Given the description of an element on the screen output the (x, y) to click on. 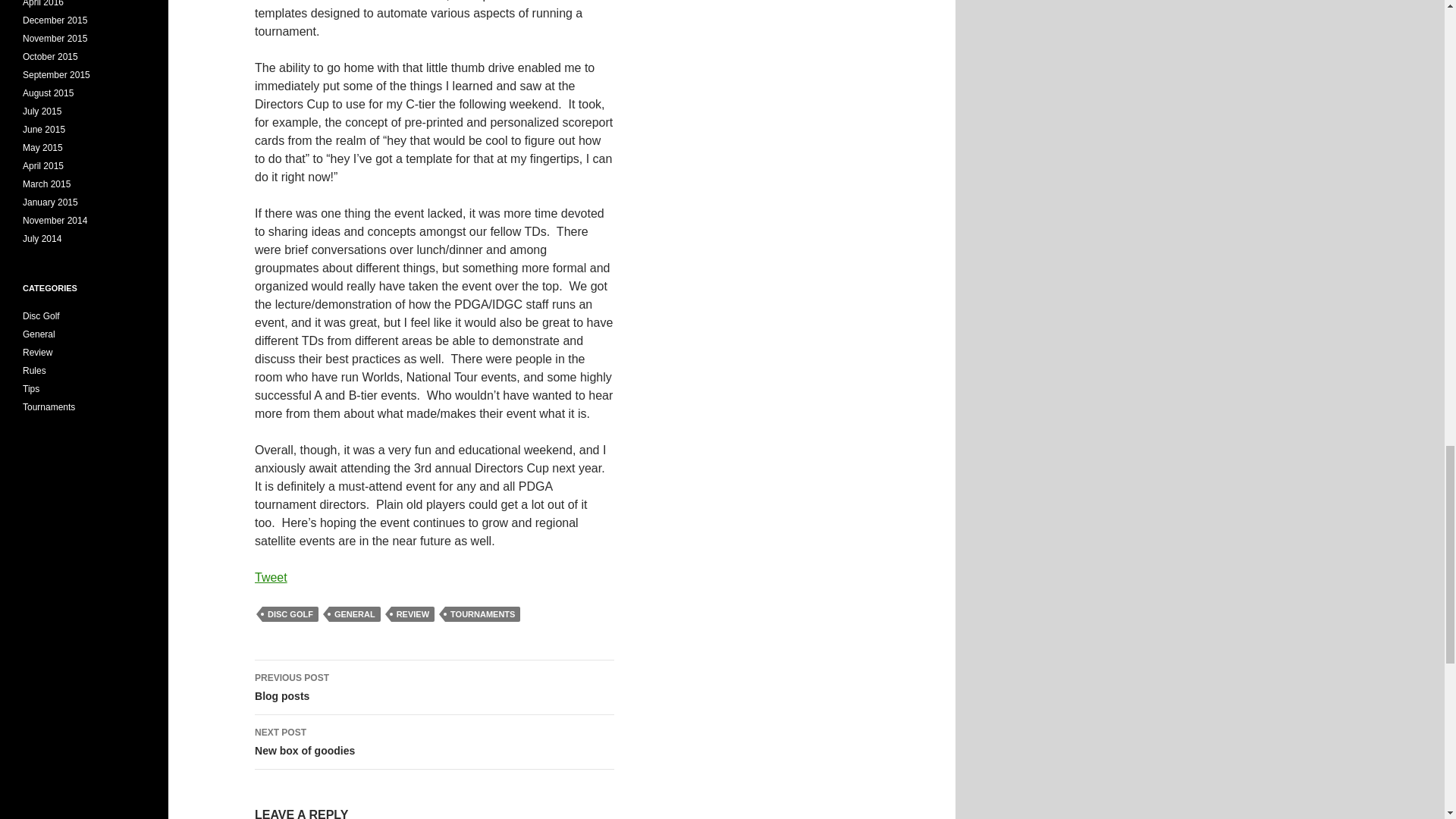
GENERAL (354, 613)
REVIEW (412, 613)
DISC GOLF (290, 613)
Tweet (270, 576)
